Given the description of an element on the screen output the (x, y) to click on. 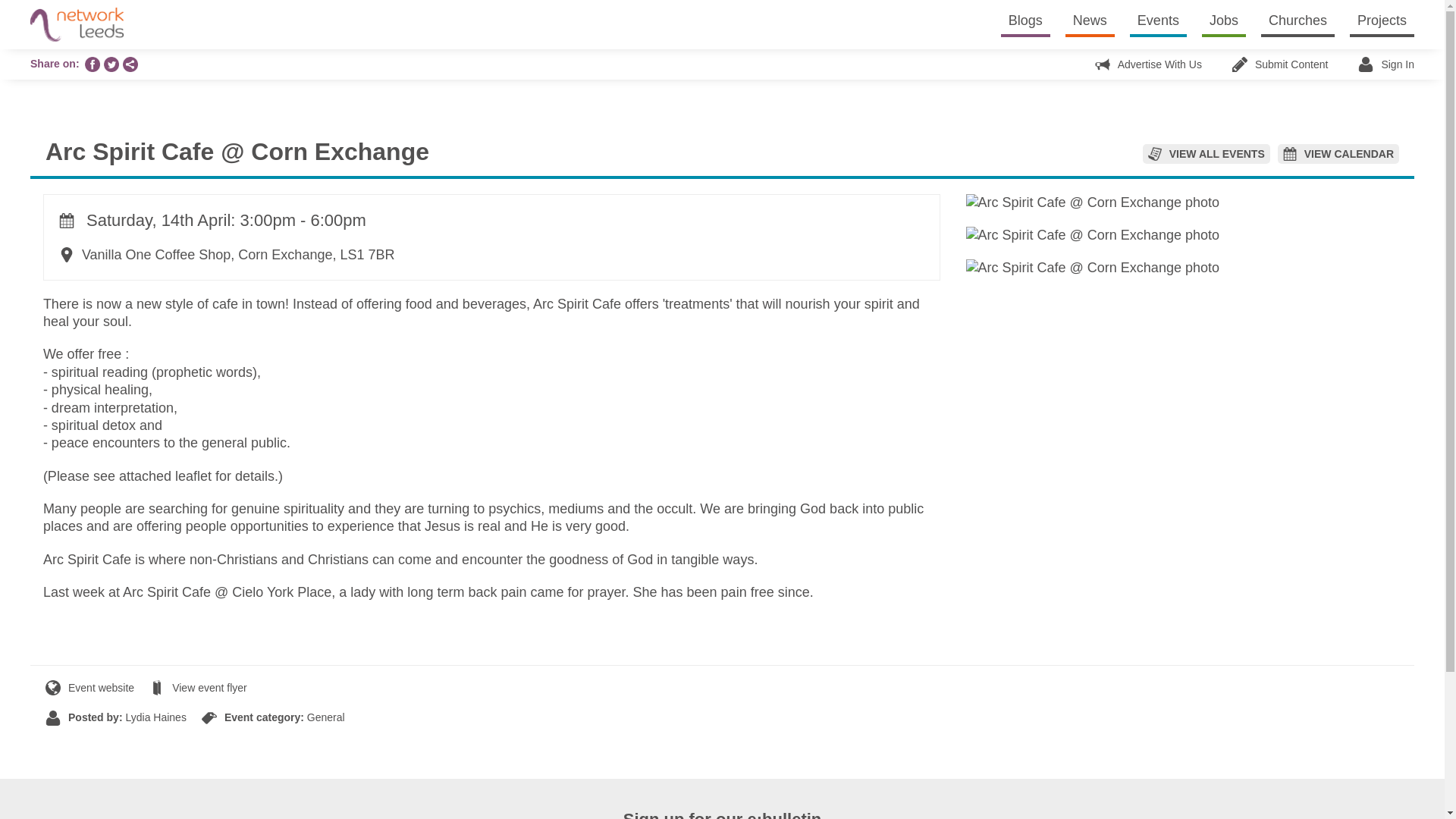
Advertise With Us (1148, 64)
Churches (1297, 20)
Events (1157, 20)
Vanilla One Coffee Shop, Corn Exchange, LS1 7BR (226, 254)
Projects (1381, 20)
News (1090, 20)
View event flyer (198, 687)
Jobs (1224, 20)
Sign In (1385, 64)
Submit Content (1279, 64)
